Given the description of an element on the screen output the (x, y) to click on. 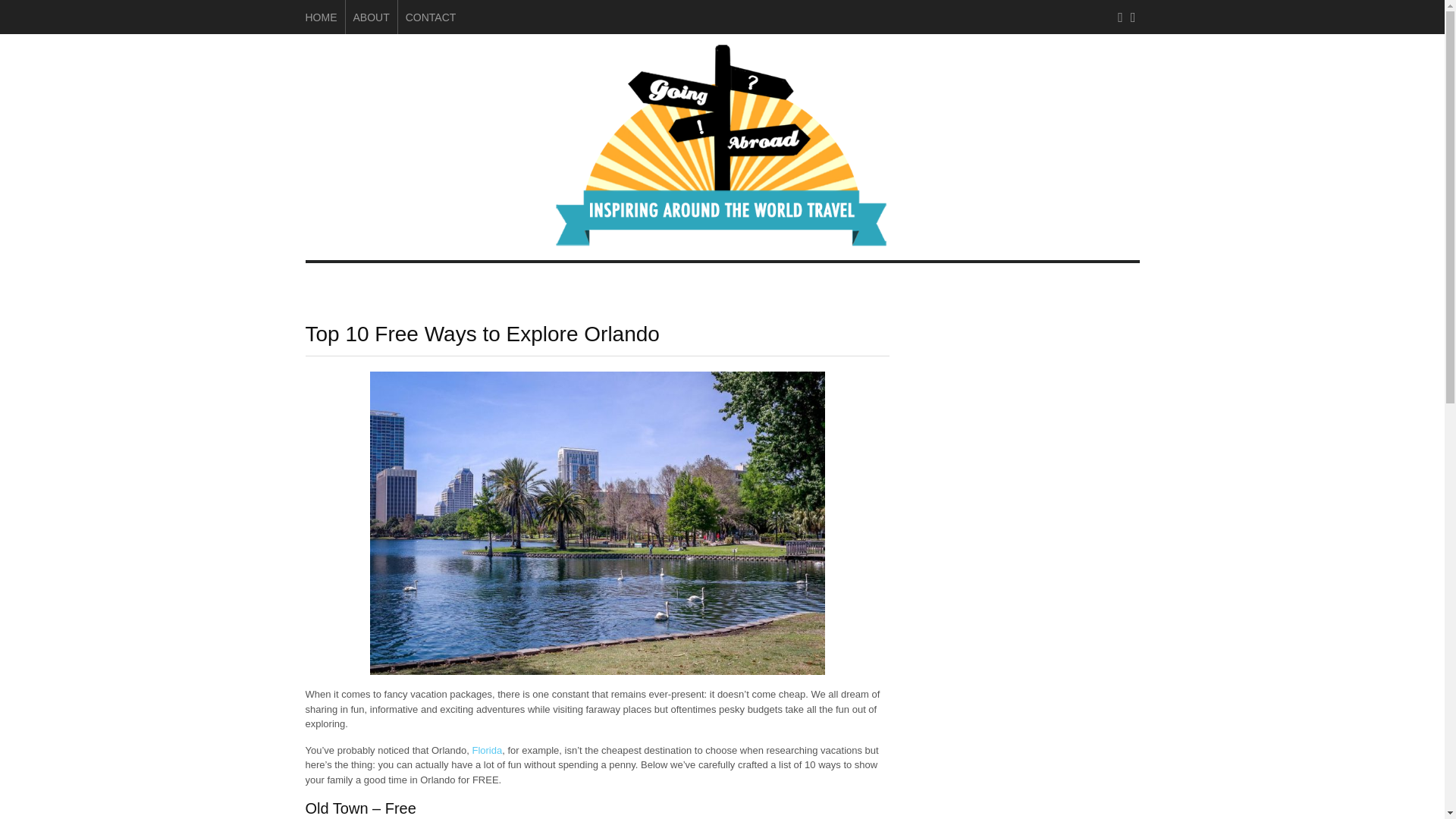
Florida (486, 749)
CONTACT (431, 17)
HOME (320, 17)
ABOUT (371, 17)
